Given the description of an element on the screen output the (x, y) to click on. 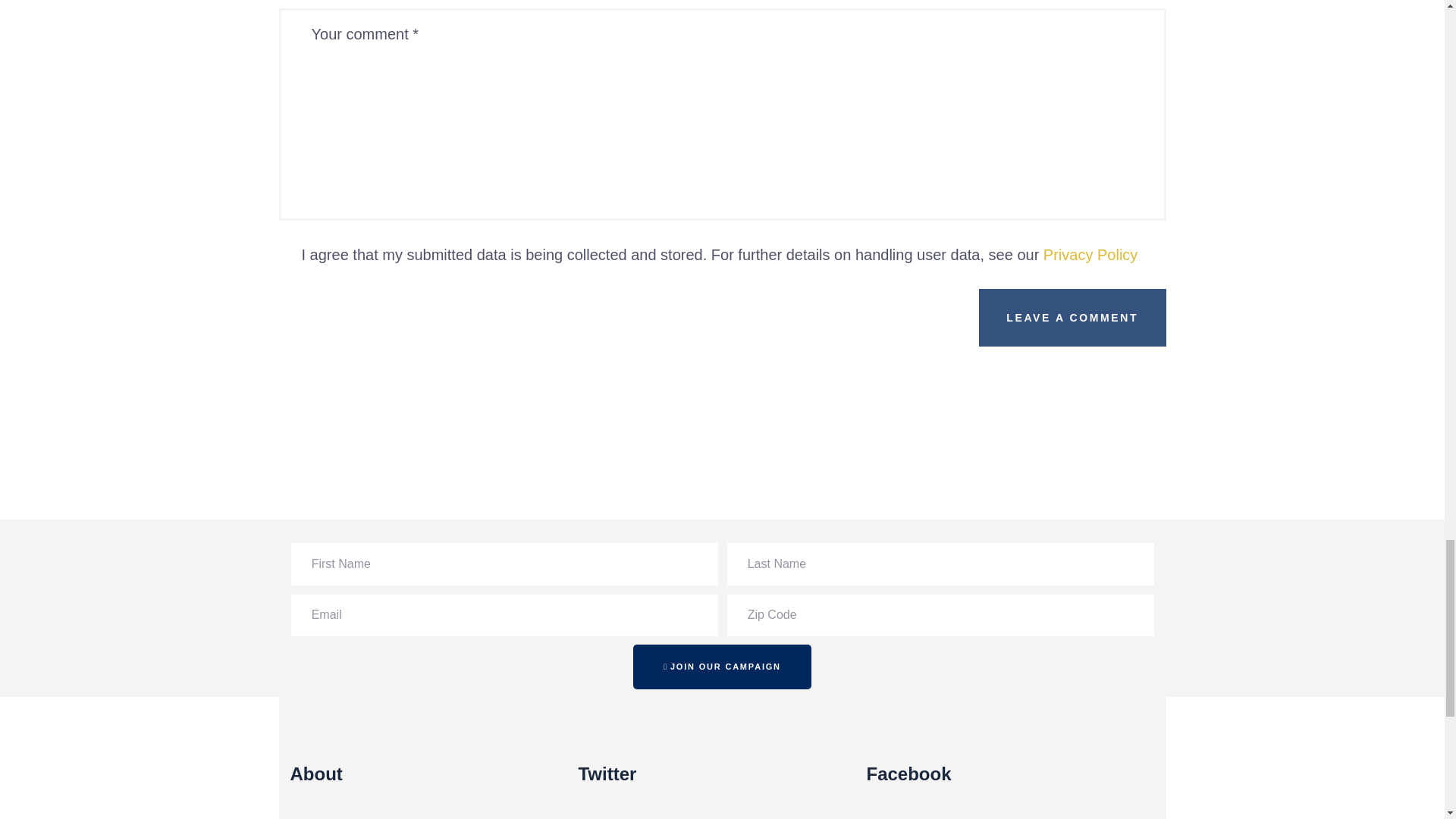
JOIN OUR CAMPAIGN (721, 666)
Privacy Policy (1090, 254)
Leave a comment (1072, 317)
Tweets by omar4judge (654, 817)
Leave a comment (1072, 317)
